Given the description of an element on the screen output the (x, y) to click on. 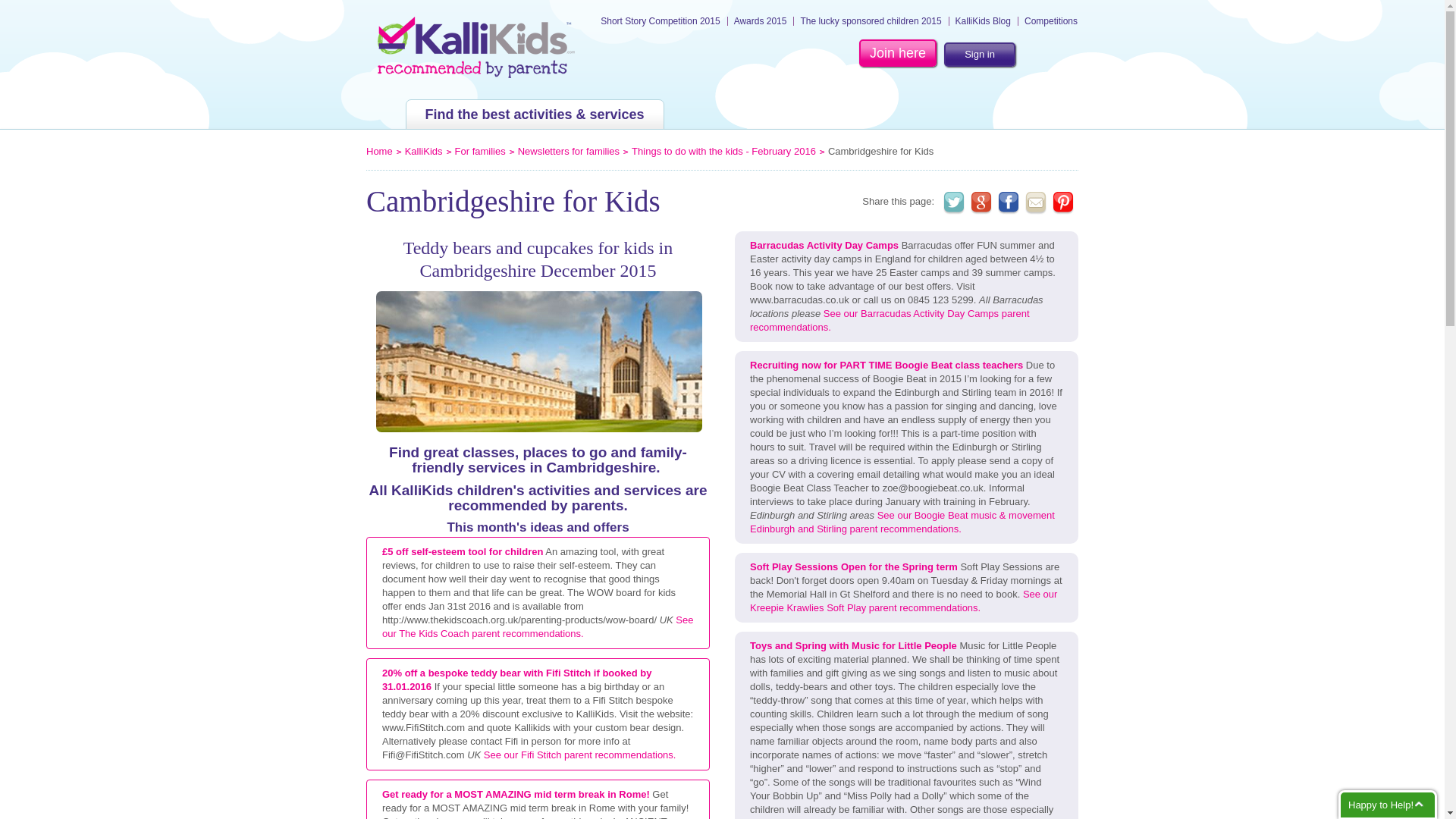
Pinterest (1063, 202)
Newsletters for families (569, 151)
KalliKids (423, 151)
Sign in (978, 54)
For families (479, 151)
kallikids (476, 46)
Get ready for a MOST AMAZING mid term break in Rome! (515, 794)
Tweet (954, 202)
Home (379, 151)
